Given the description of an element on the screen output the (x, y) to click on. 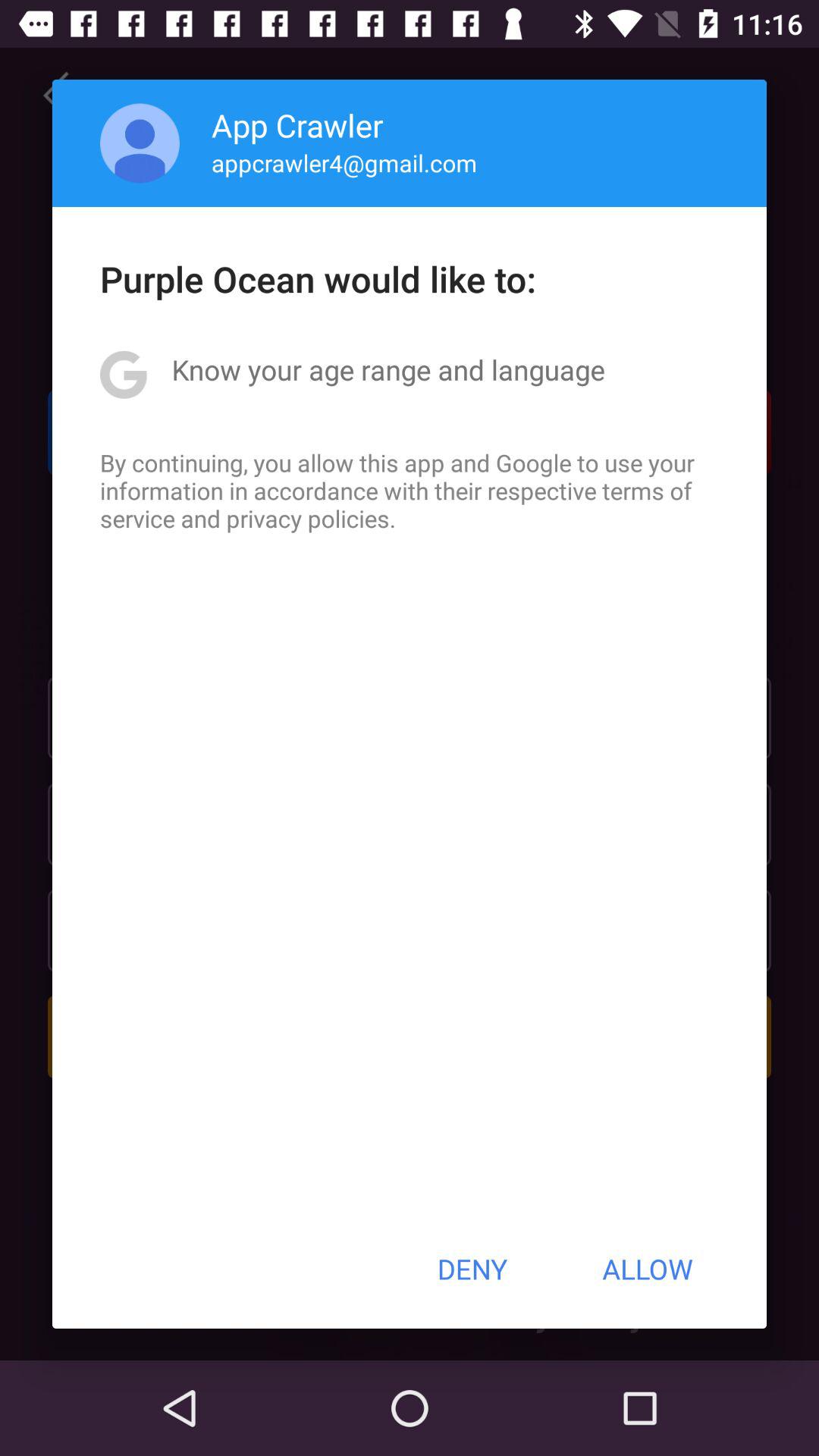
turn off appcrawler4@gmail.com item (344, 162)
